Given the description of an element on the screen output the (x, y) to click on. 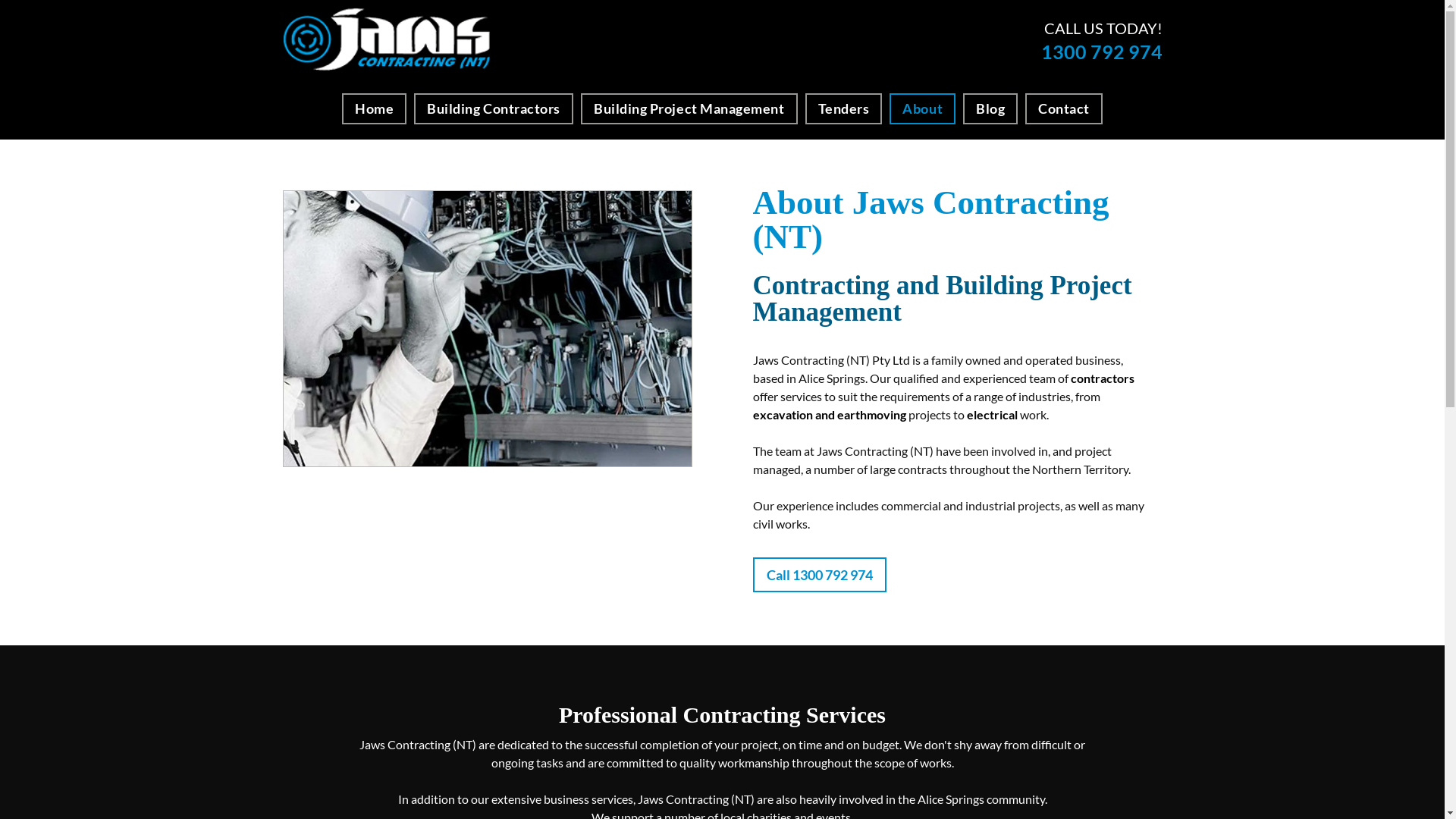
Building Project Management Element type: text (688, 108)
Building Contractors Element type: text (493, 108)
excavation and earthmoving Element type: text (828, 414)
Tenders Element type: text (843, 108)
Call 1300 792 974 Element type: text (818, 574)
About Element type: text (922, 108)
1300 792 974 Element type: text (1100, 51)
Building Project Management Alice Springs Element type: hover (385, 38)
electrical Element type: text (991, 414)
contractors Element type: text (1102, 377)
Home Element type: text (374, 108)
Blog Element type: text (990, 108)
Contact Element type: text (1063, 108)
